Given the description of an element on the screen output the (x, y) to click on. 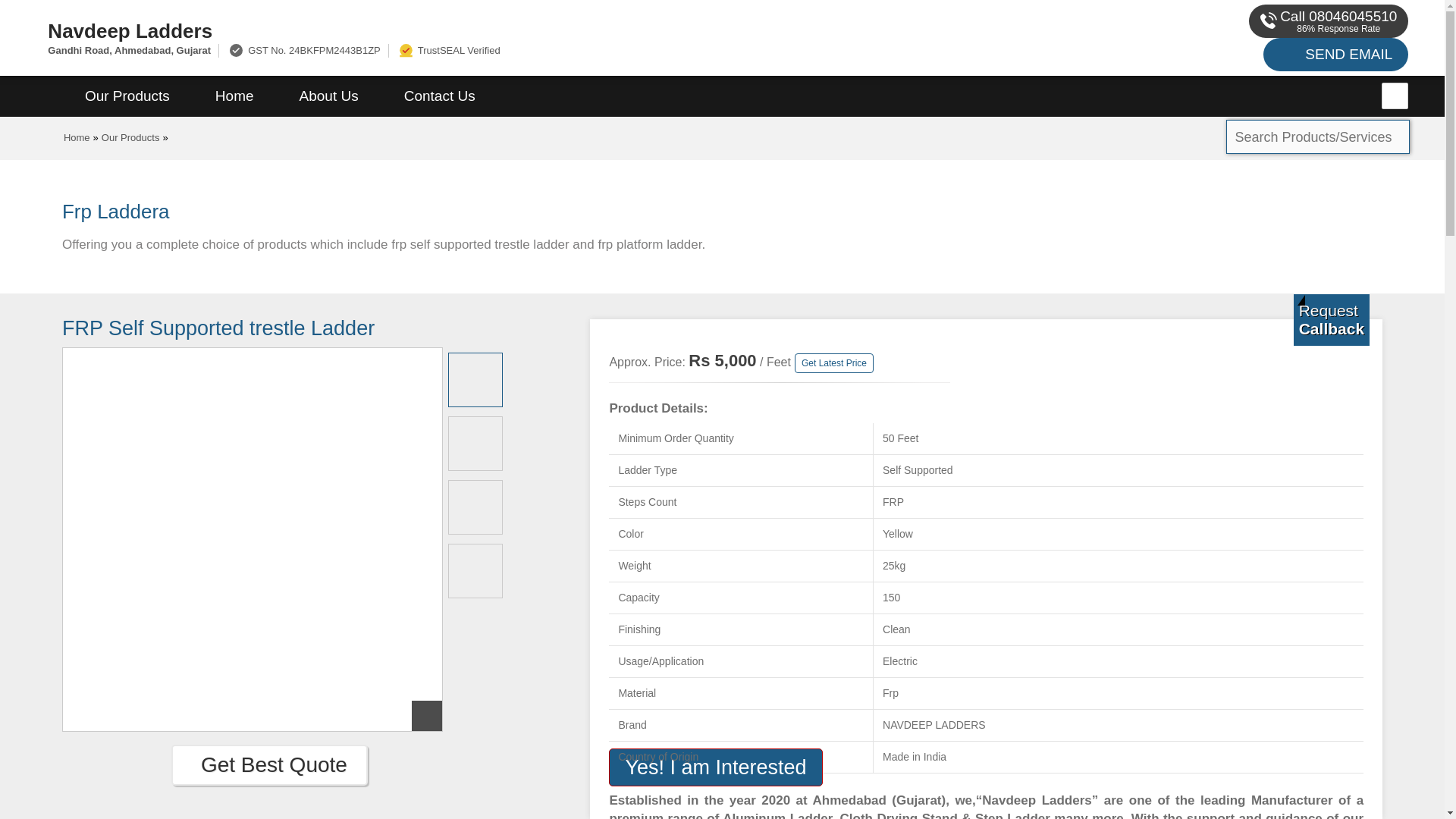
Get a Call from us (1332, 319)
Our Products (127, 96)
Contact Us (439, 96)
Home (234, 96)
Our Products (130, 137)
About Us (328, 96)
Home (77, 137)
Navdeep Ladders (485, 31)
